Given the description of an element on the screen output the (x, y) to click on. 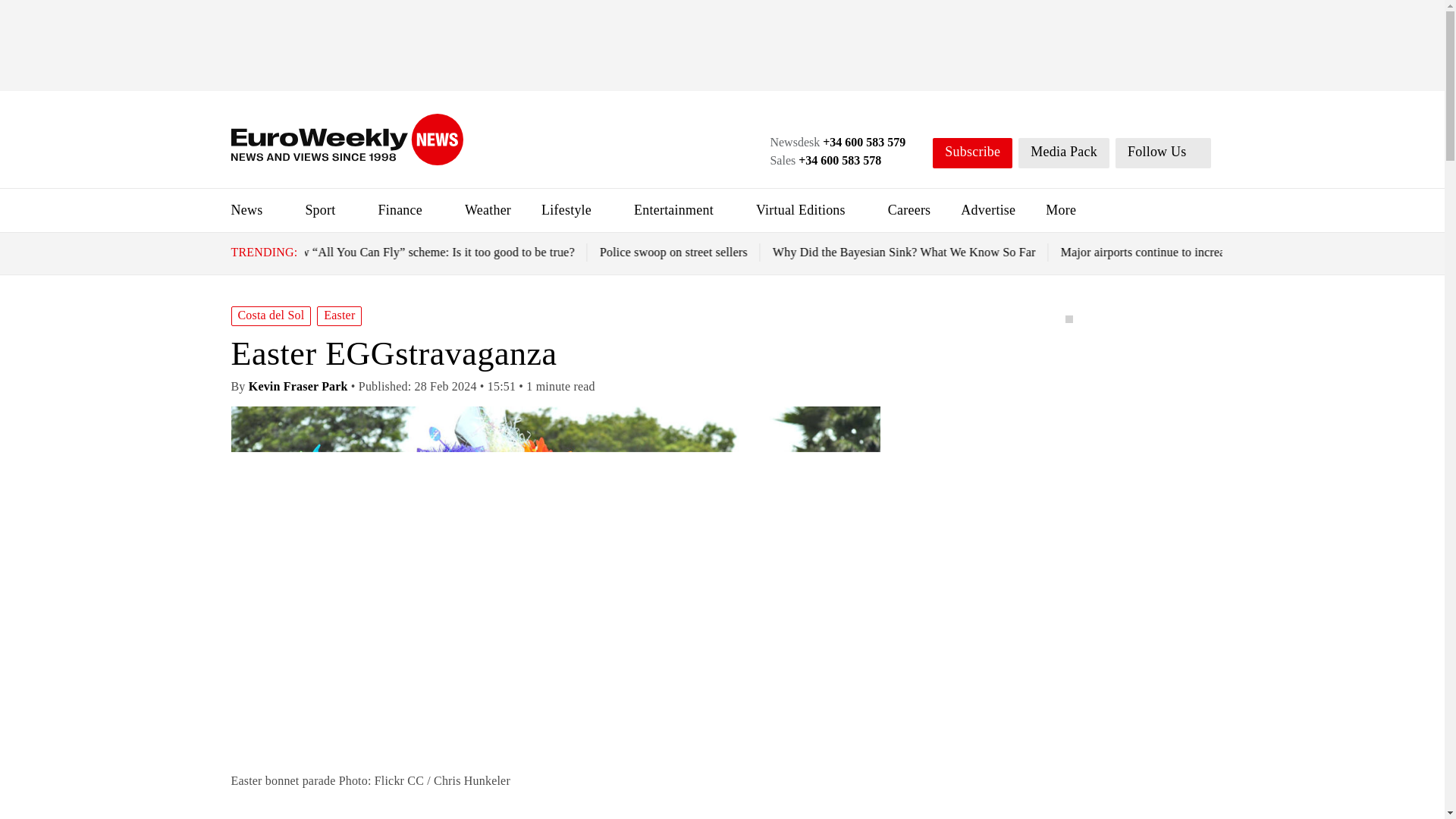
Media Pack (1063, 153)
Subscribe (972, 153)
News (246, 209)
Follow Us (1163, 153)
